Given the description of an element on the screen output the (x, y) to click on. 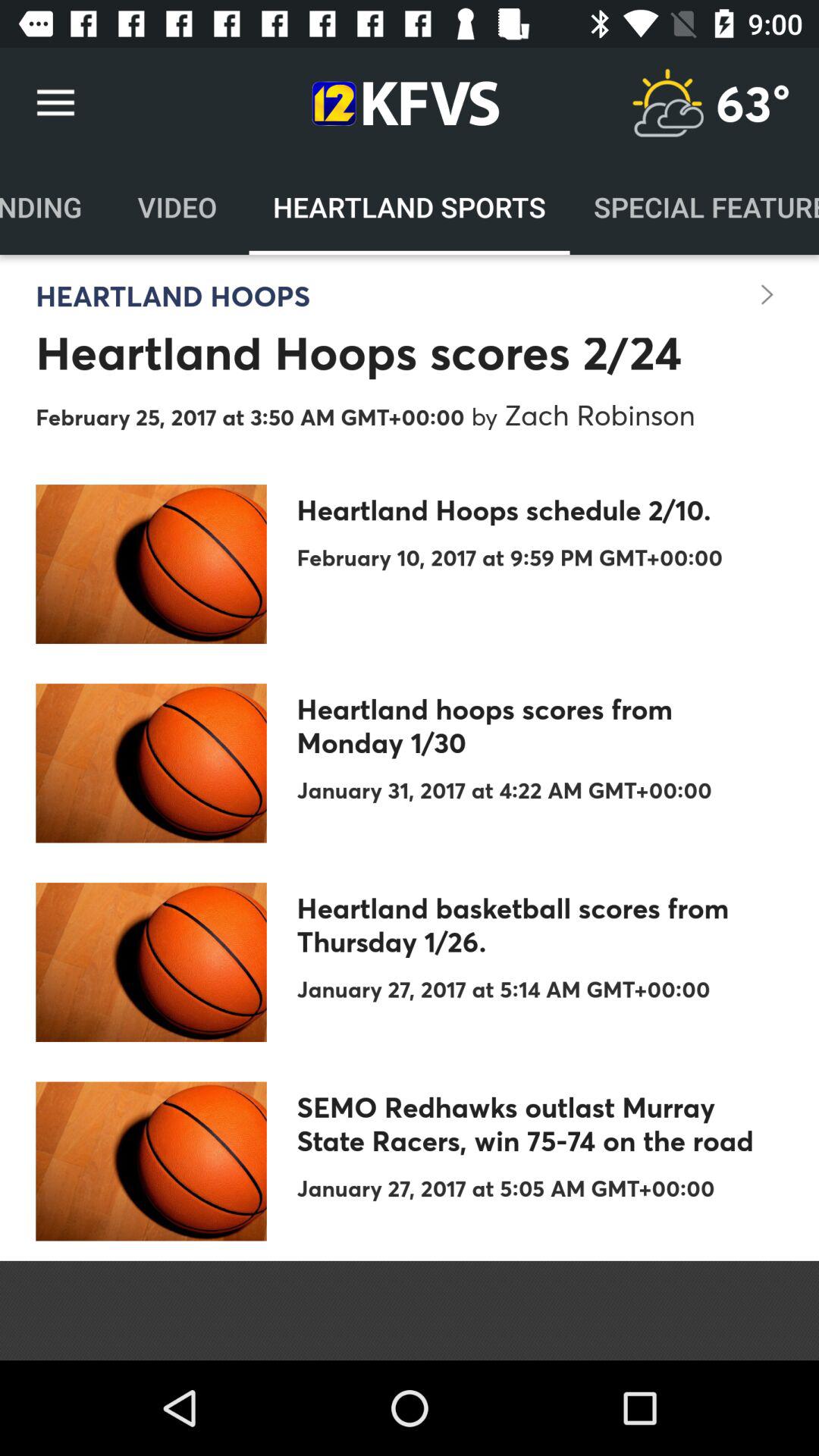
open the item above the special features icon (753, 102)
